Given the description of an element on the screen output the (x, y) to click on. 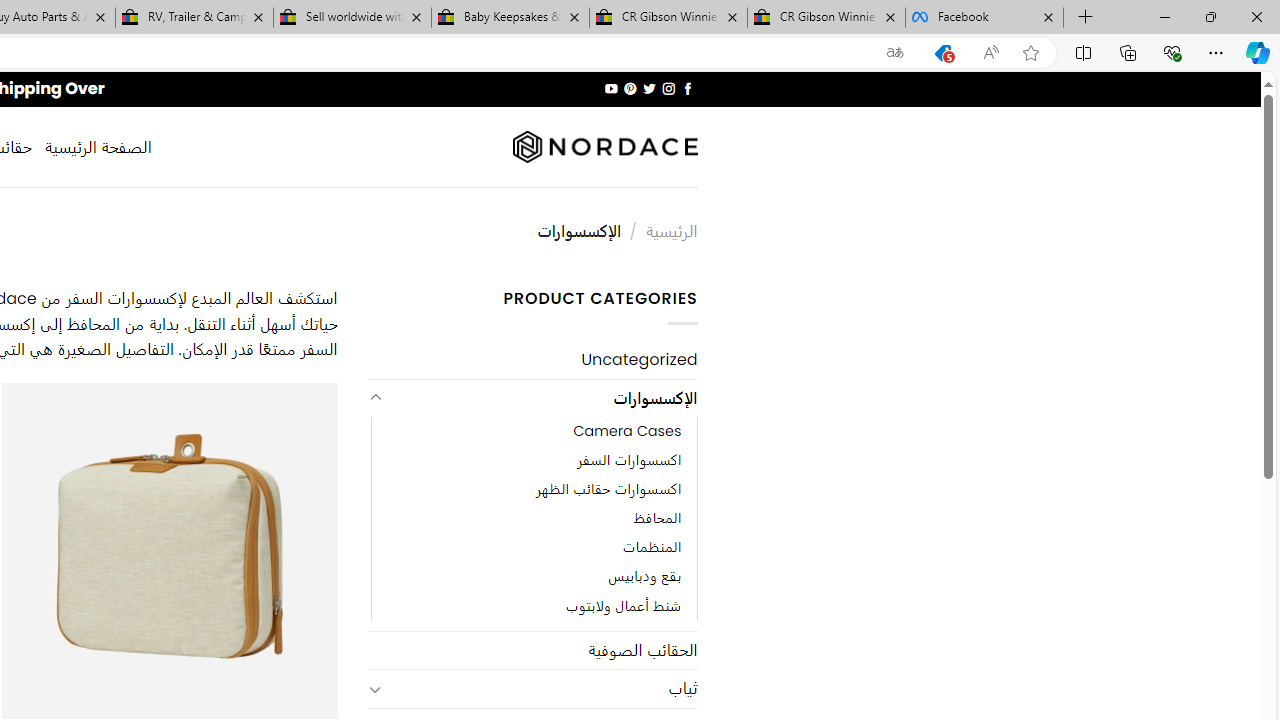
Show translate options (895, 53)
Follow on Twitter (648, 88)
Camera Cases (534, 431)
